Given the description of an element on the screen output the (x, y) to click on. 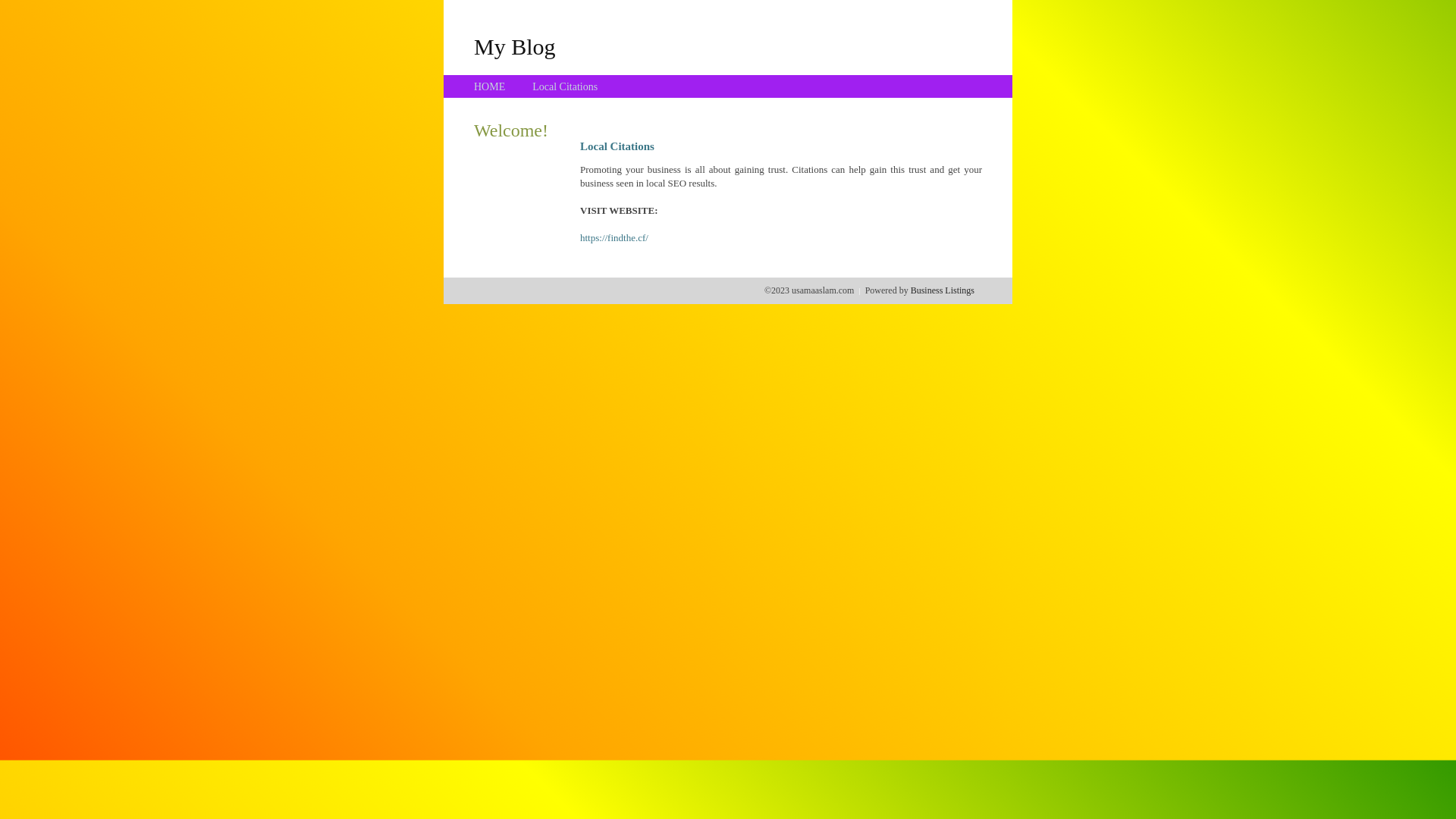
Business Listings Element type: text (942, 290)
https://findthe.cf/ Element type: text (614, 237)
HOME Element type: text (489, 86)
My Blog Element type: text (514, 46)
Local Citations Element type: text (564, 86)
